Given the description of an element on the screen output the (x, y) to click on. 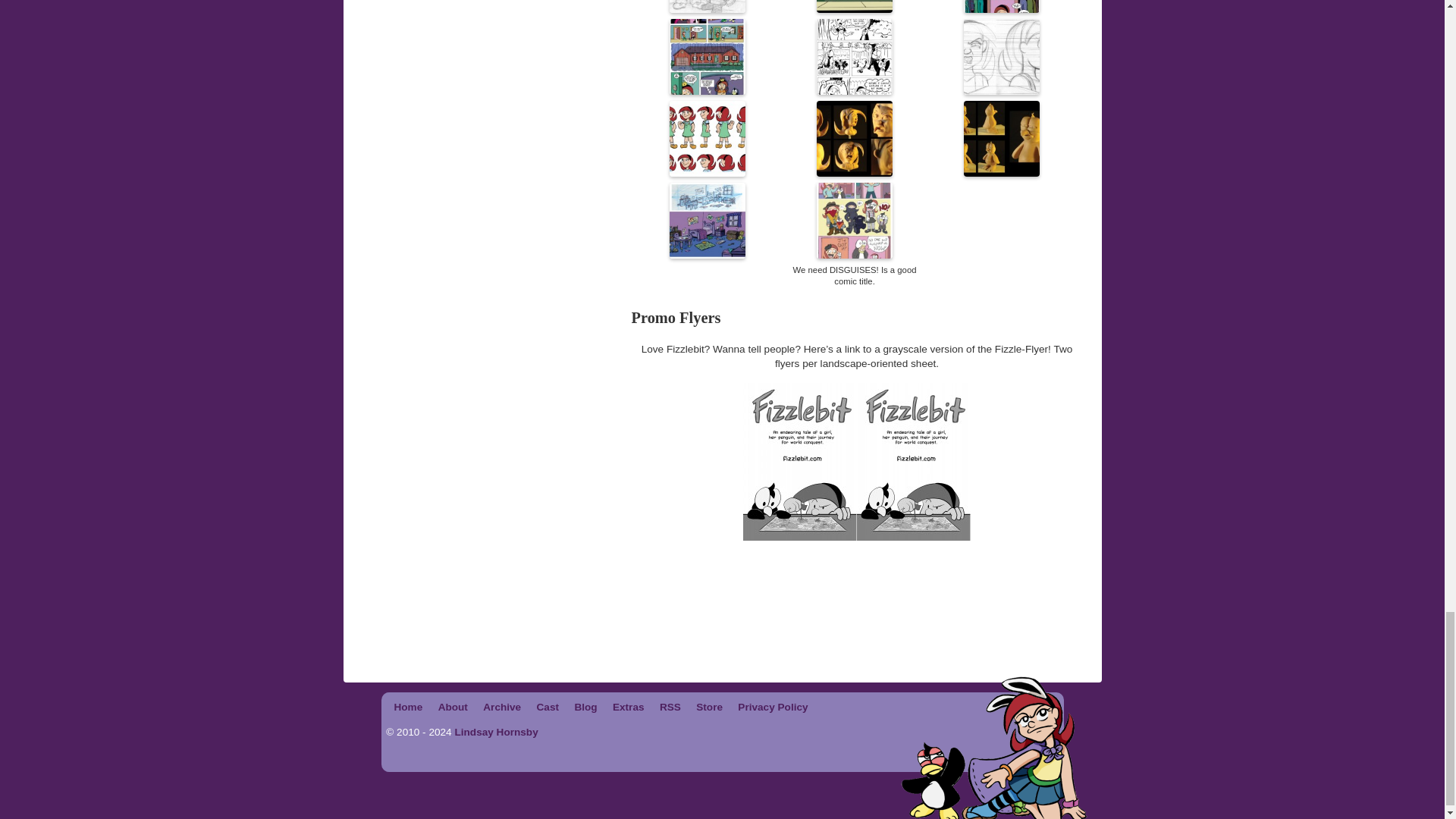
fizzlebitflyerprint (856, 461)
Advertiser (722, 628)
